Given the description of an element on the screen output the (x, y) to click on. 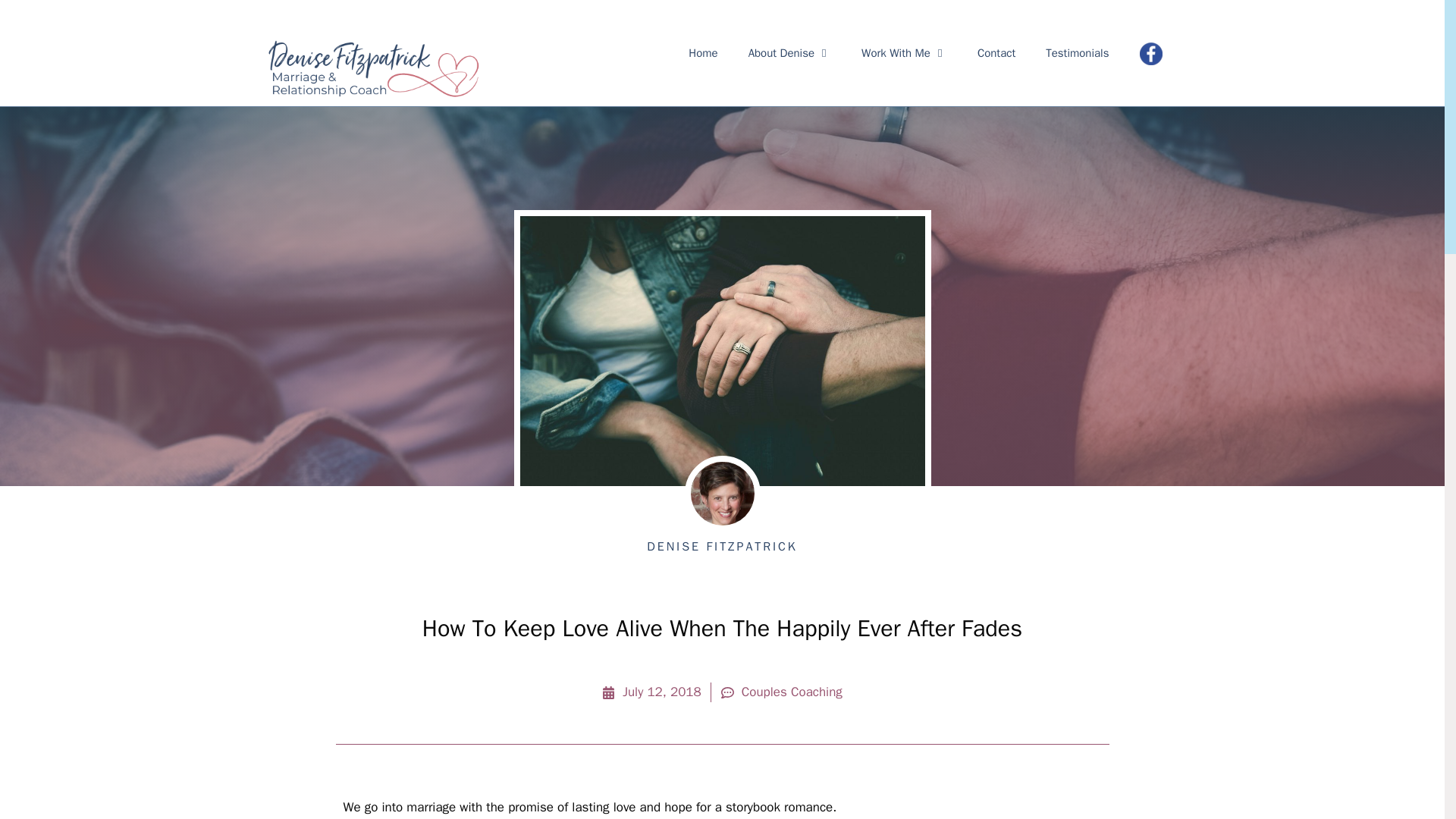
Couples Coaching (792, 691)
Testimonials (1077, 53)
About Denise (789, 53)
Home (702, 53)
Marriage Mastery Program (372, 68)
July 12, 2018 (651, 691)
Work With Me (903, 53)
Contact (996, 53)
